Given the description of an element on the screen output the (x, y) to click on. 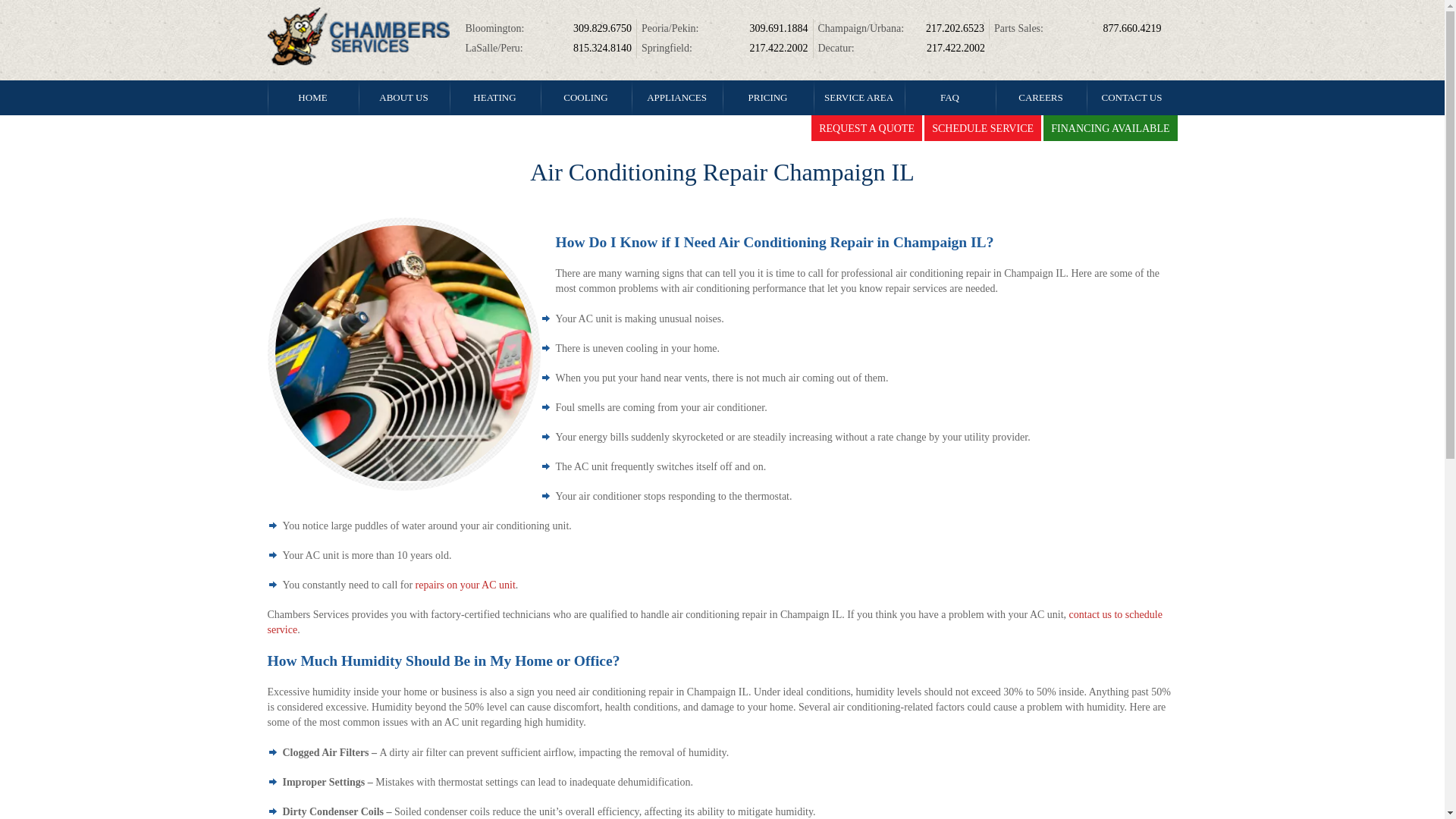
SERVICE AREA (858, 97)
309.691.1884 (778, 28)
COOLING (585, 97)
309.829.6750 (602, 28)
CAREERS (1040, 97)
217.422.2002 (955, 48)
HEATING (494, 97)
APPLIANCES (676, 97)
877.660.4219 (1131, 28)
HOME (312, 97)
PRICING (767, 97)
815.324.8140 (602, 48)
217.202.6523 (955, 28)
FAQ (949, 97)
ABOUT US (403, 97)
